Given the description of an element on the screen output the (x, y) to click on. 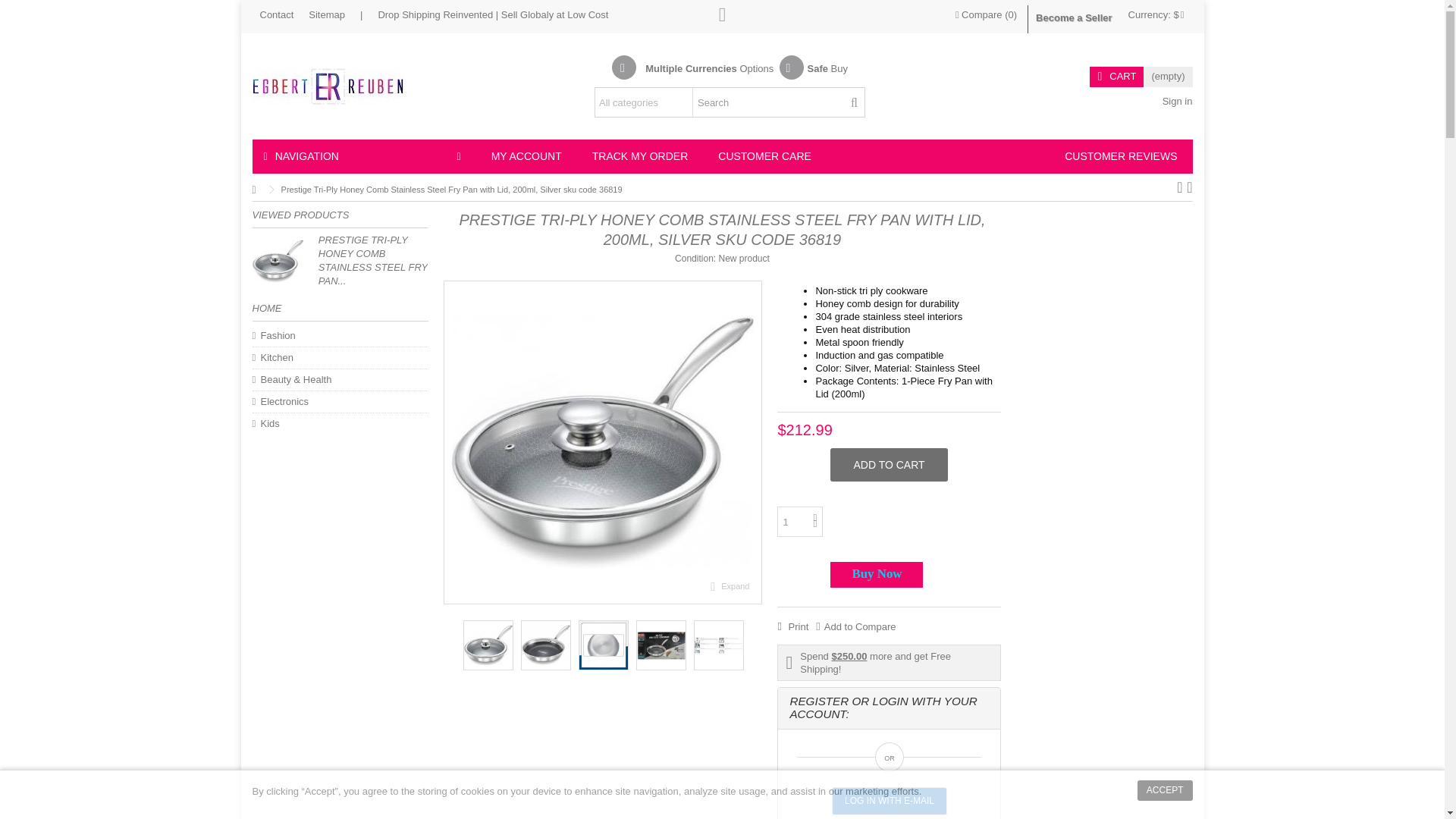
Sign in (1175, 101)
Contact (276, 14)
Options (757, 68)
1 (799, 521)
Buy (839, 68)
Sitemap (326, 14)
Become a Seller (1073, 18)
Buy Now (876, 574)
